Given the description of an element on the screen output the (x, y) to click on. 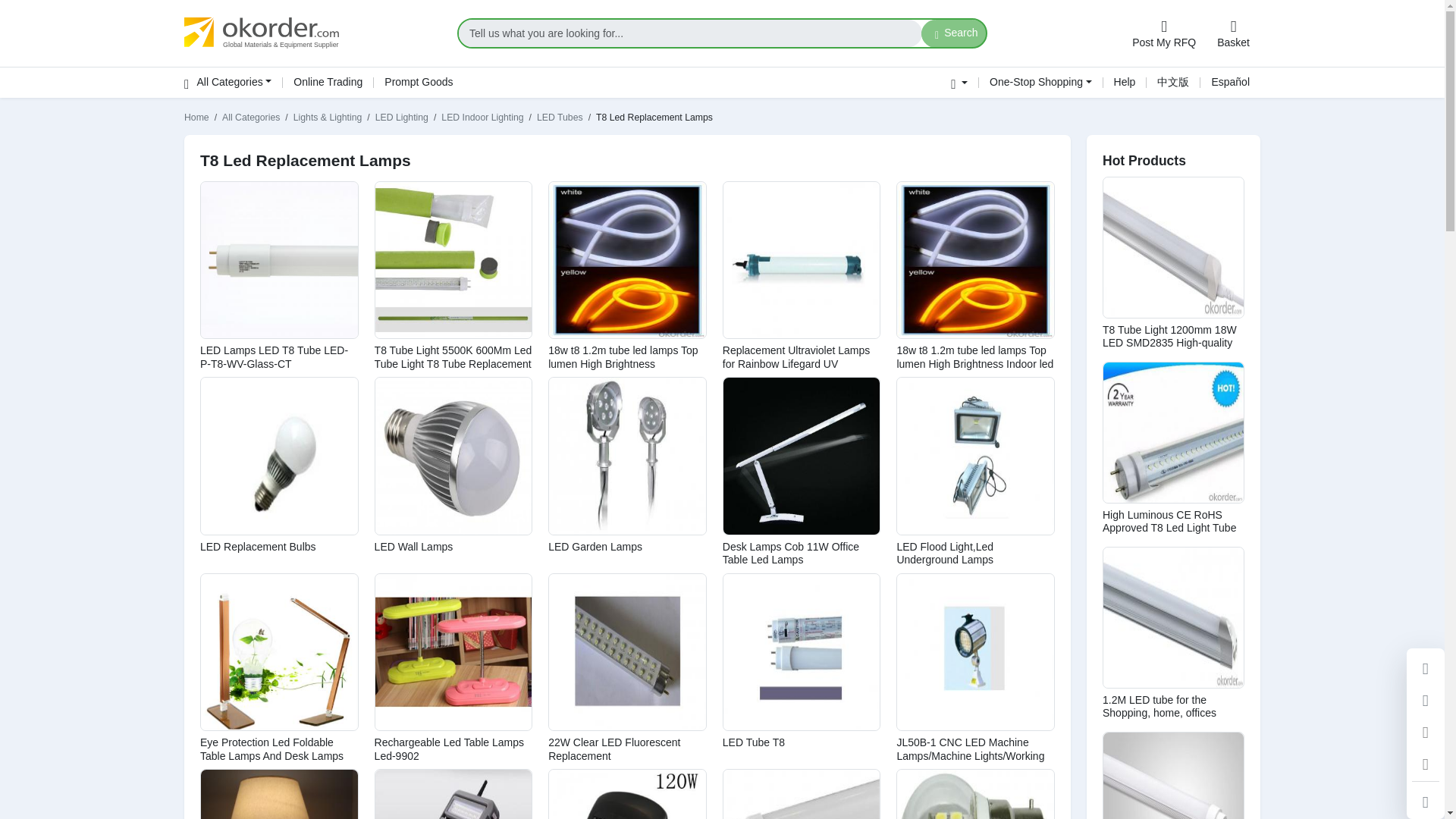
OKorder LED Lamps LED T8 Tube LED-P-T8-WV-Glass-CT (279, 260)
OKorder LED Wall Lamps (453, 455)
LED Garden Lamps (595, 546)
LED Replacement Bulbs (257, 546)
Basket (1233, 33)
www.okorder.com (312, 33)
Search (954, 33)
Desk Lamps Cob 11W Office Table Led Lamps (790, 553)
OKorder LED Replacement Bulbs (279, 455)
Post My RFQ (1164, 33)
